Given the description of an element on the screen output the (x, y) to click on. 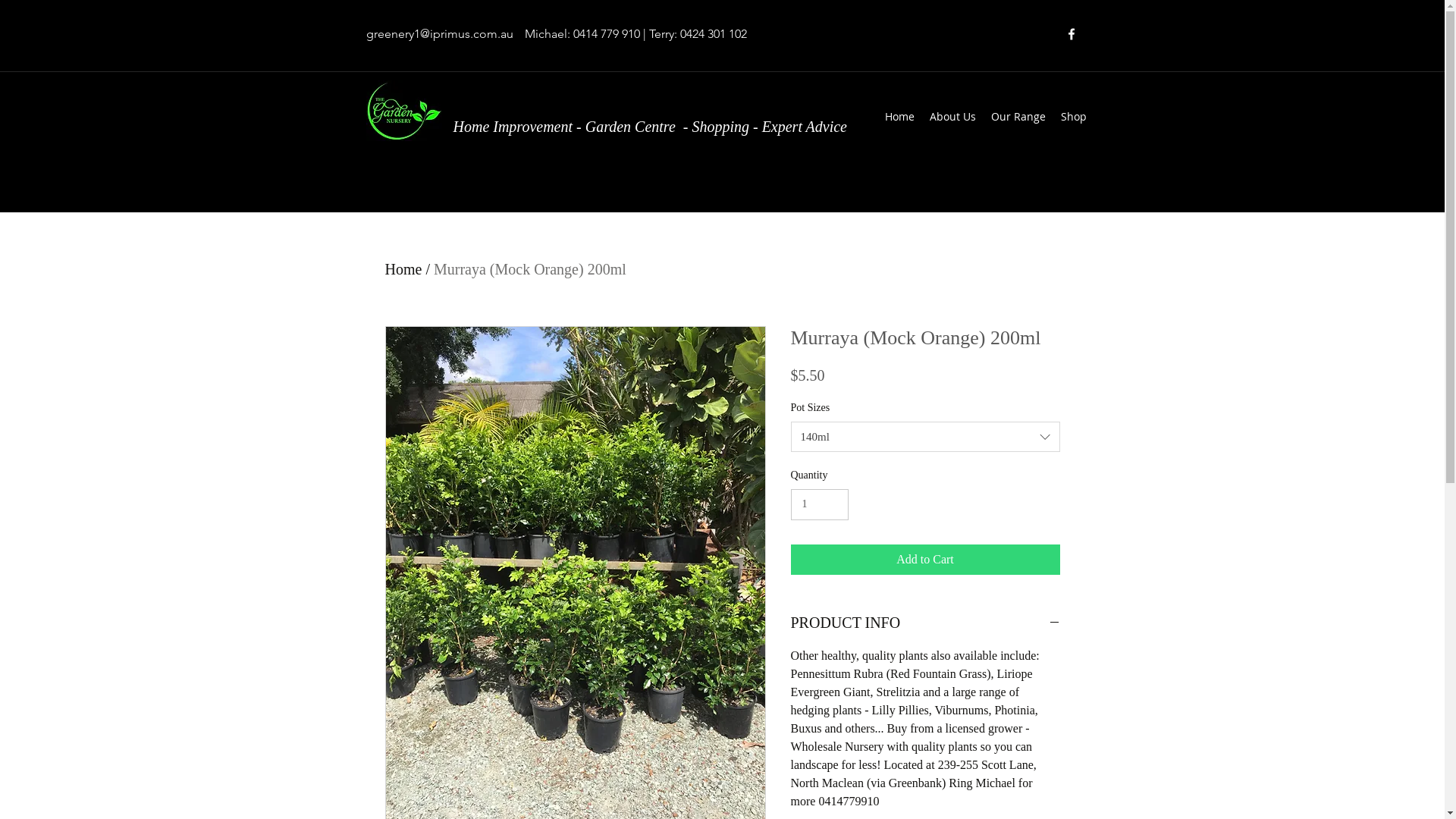
140ml Element type: text (924, 436)
Our Range Element type: text (1017, 116)
Home Element type: text (403, 268)
greenery1@iprimus.com.au Element type: text (438, 33)
PRODUCT INFO Element type: text (924, 622)
About Us Element type: text (952, 116)
Home Element type: text (898, 116)
Murraya (Mock Orange) 200ml Element type: text (529, 268)
Add to Cart Element type: text (924, 559)
Shop Element type: text (1072, 116)
